Given the description of an element on the screen output the (x, y) to click on. 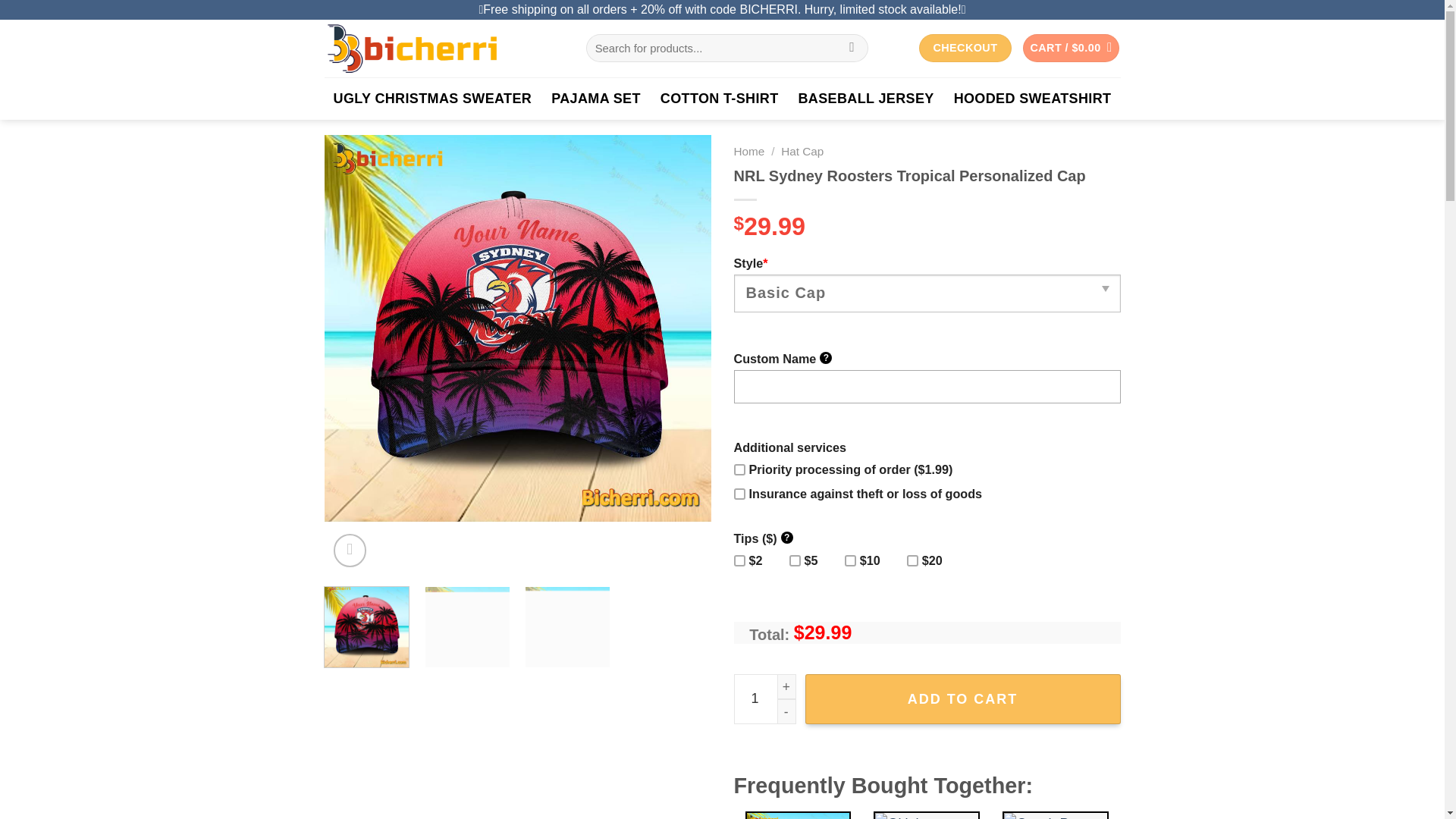
1 (764, 698)
CHECKOUT (964, 48)
PAJAMA SET (595, 97)
Home (749, 151)
Zoom (349, 550)
COTTON T-SHIRT (719, 97)
ADD TO CART (963, 698)
HOODED SWEATSHIRT (1032, 97)
Hat Cap (802, 151)
BASEBALL JERSEY (865, 97)
